Given the description of an element on the screen output the (x, y) to click on. 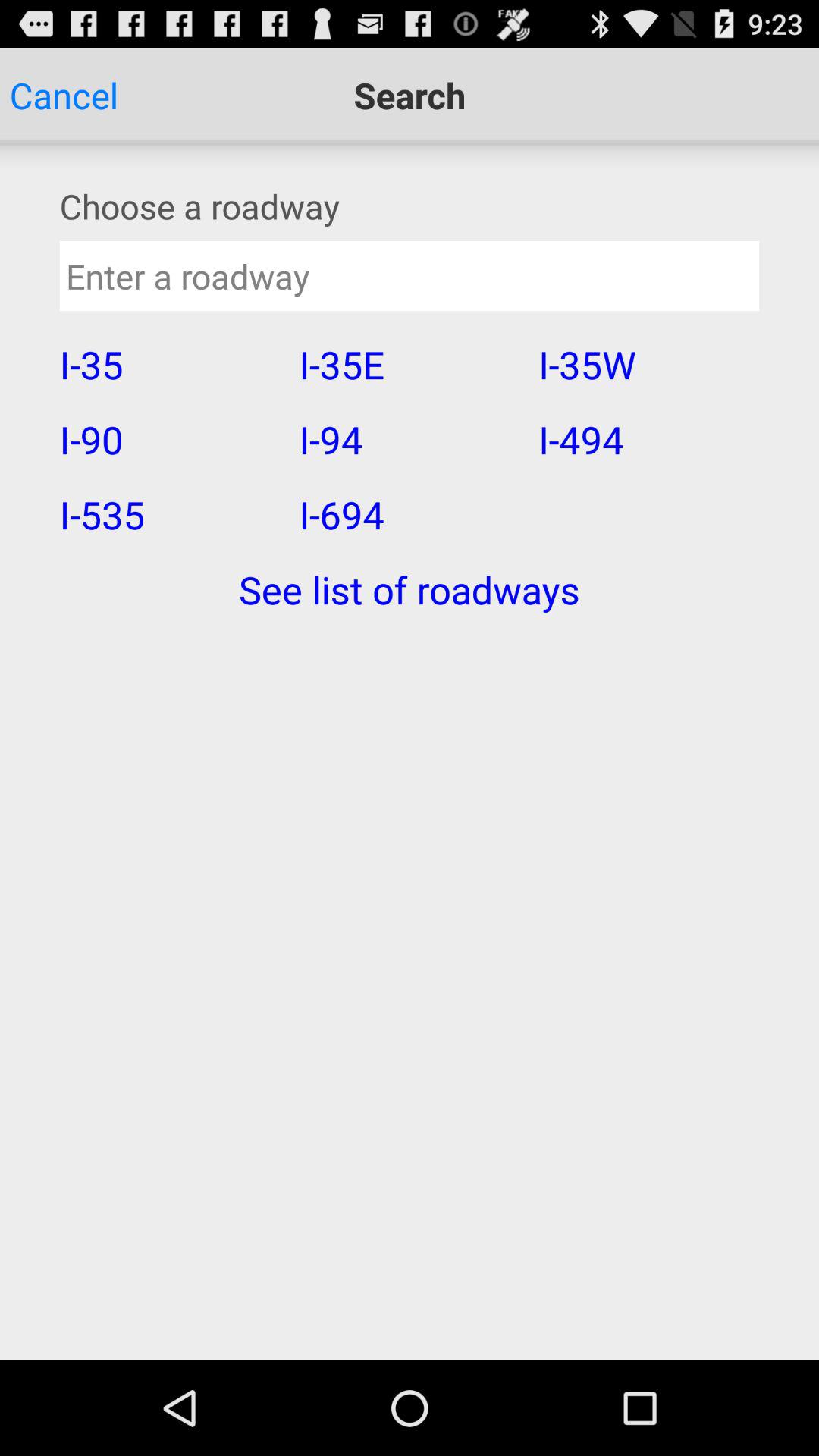
turn on the item below i-35e item (408, 439)
